Given the description of an element on the screen output the (x, y) to click on. 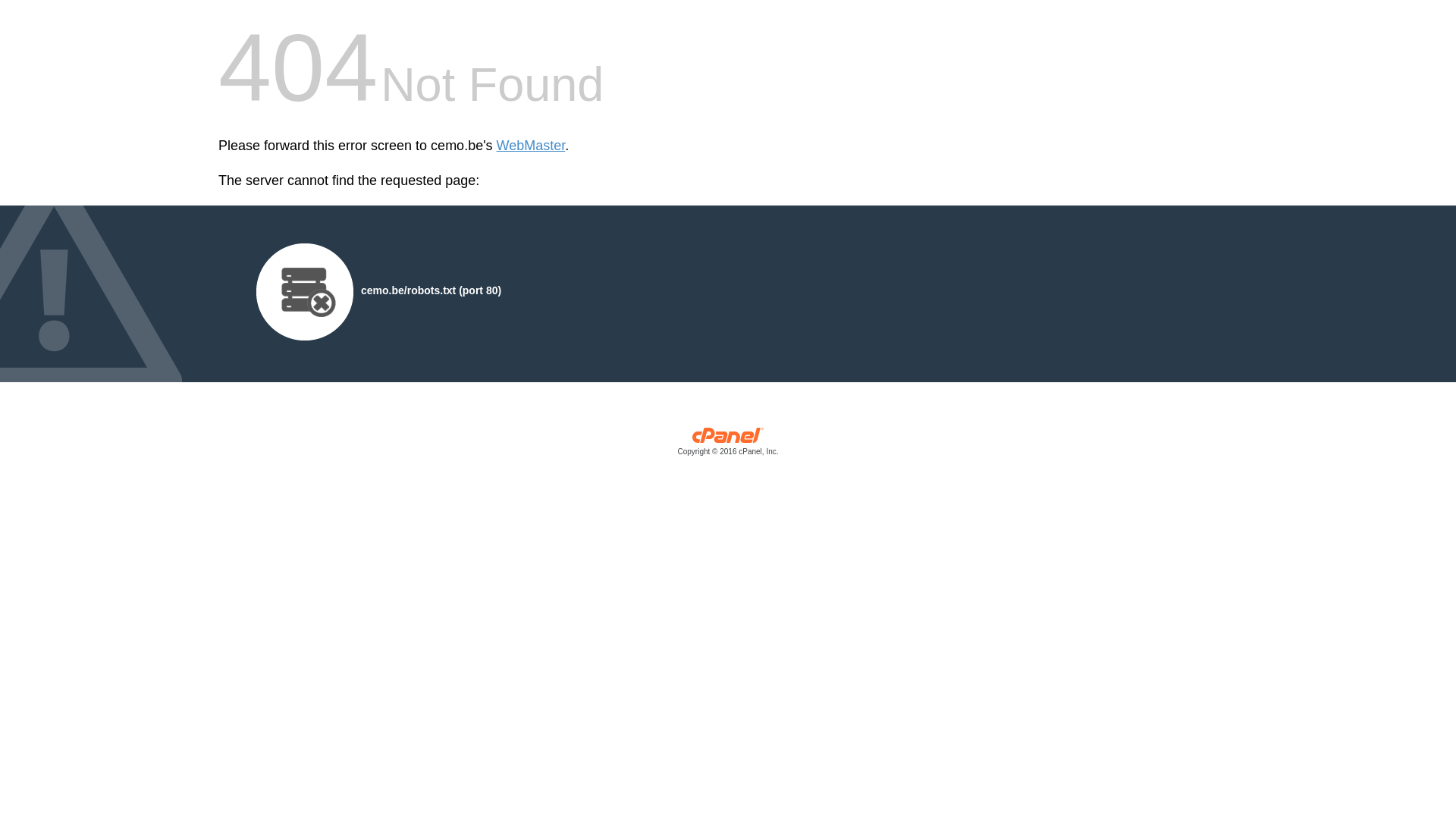
WebMaster Element type: text (530, 145)
